Given the description of an element on the screen output the (x, y) to click on. 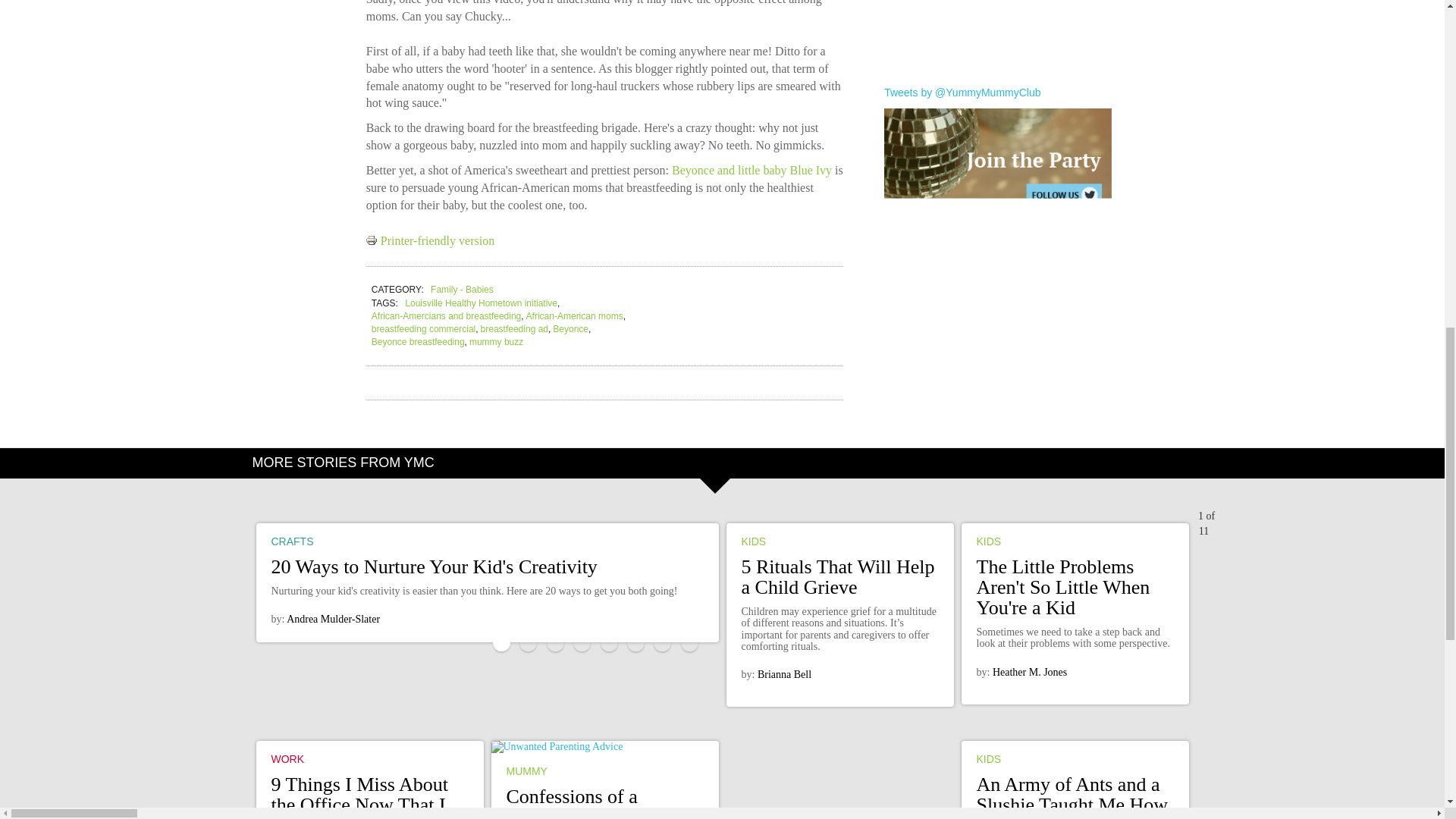
View user profile. (333, 618)
View user profile. (783, 674)
View user profile. (1029, 672)
Display a printer-friendly version of this page. (430, 240)
